Given the description of an element on the screen output the (x, y) to click on. 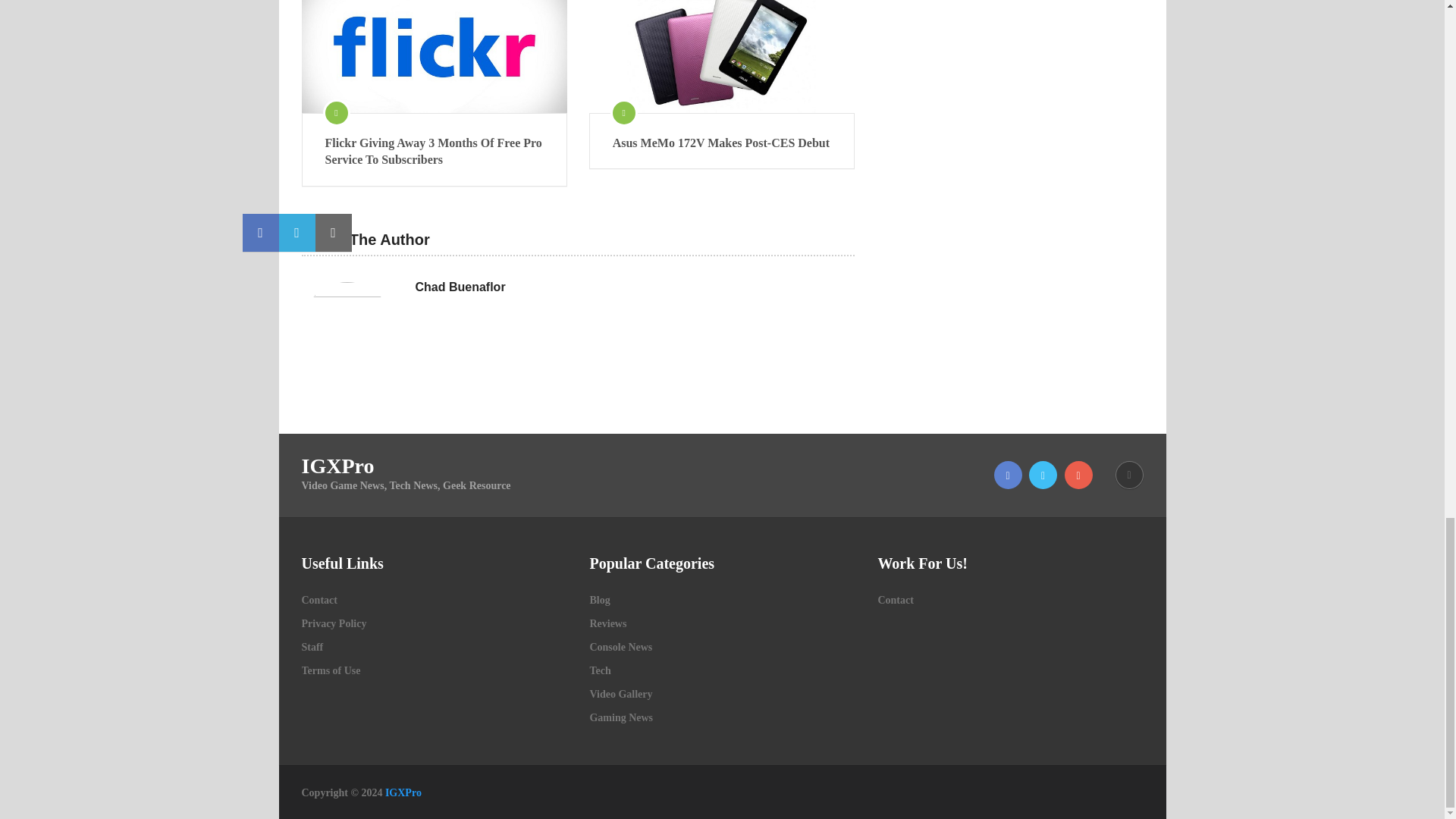
 Video Game News, Tech News, Geek Resource (403, 792)
Asus MeMo 172V Makes Post-CES Debut (721, 56)
Asus MeMo 172V Makes Post-CES Debut (721, 143)
